Given the description of an element on the screen output the (x, y) to click on. 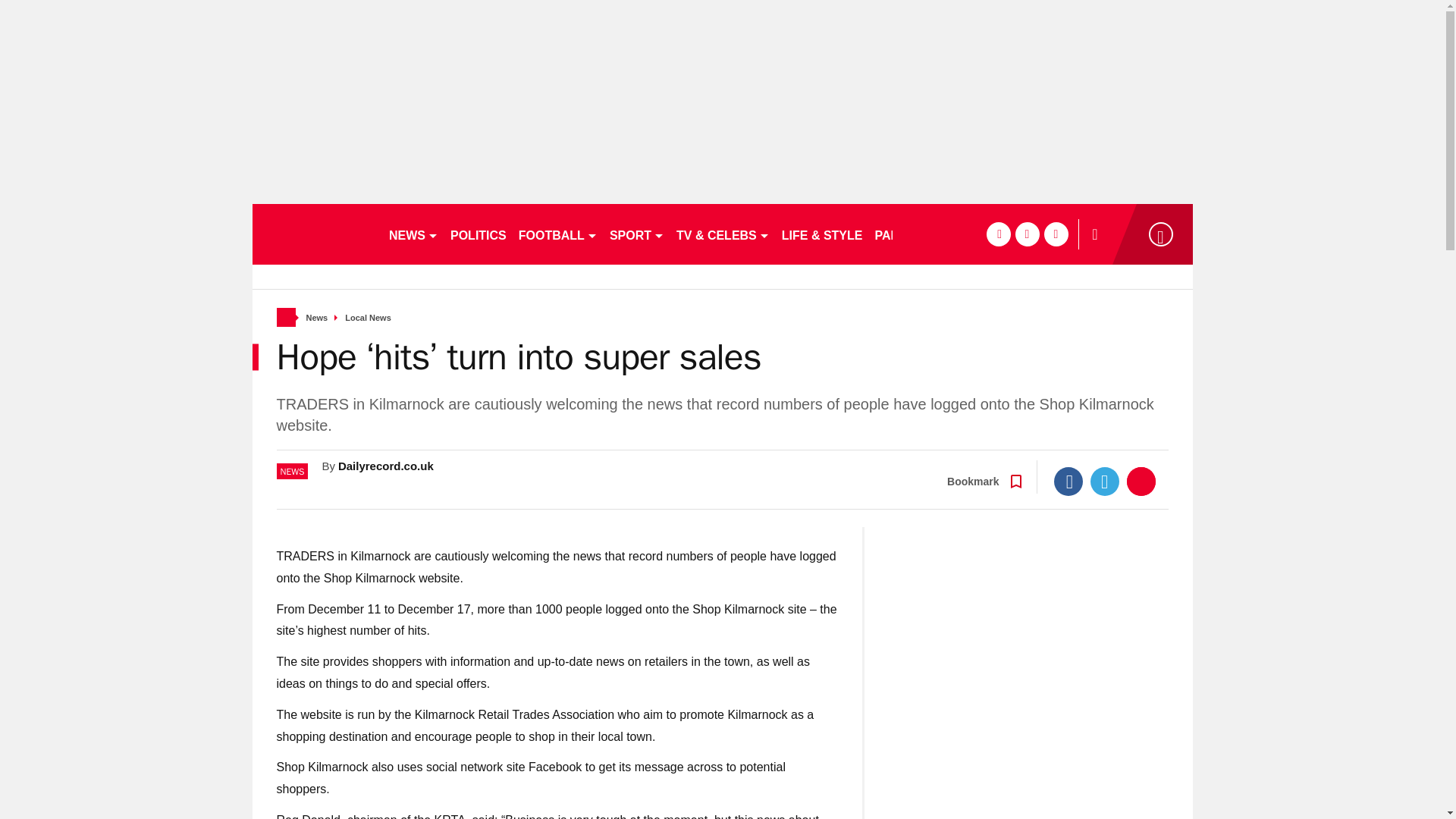
FOOTBALL (558, 233)
facebook (997, 233)
NEWS (413, 233)
SPORT (636, 233)
instagram (1055, 233)
POLITICS (478, 233)
Facebook (1068, 481)
Twitter (1104, 481)
dailyrecord (313, 233)
twitter (1026, 233)
